Given the description of an element on the screen output the (x, y) to click on. 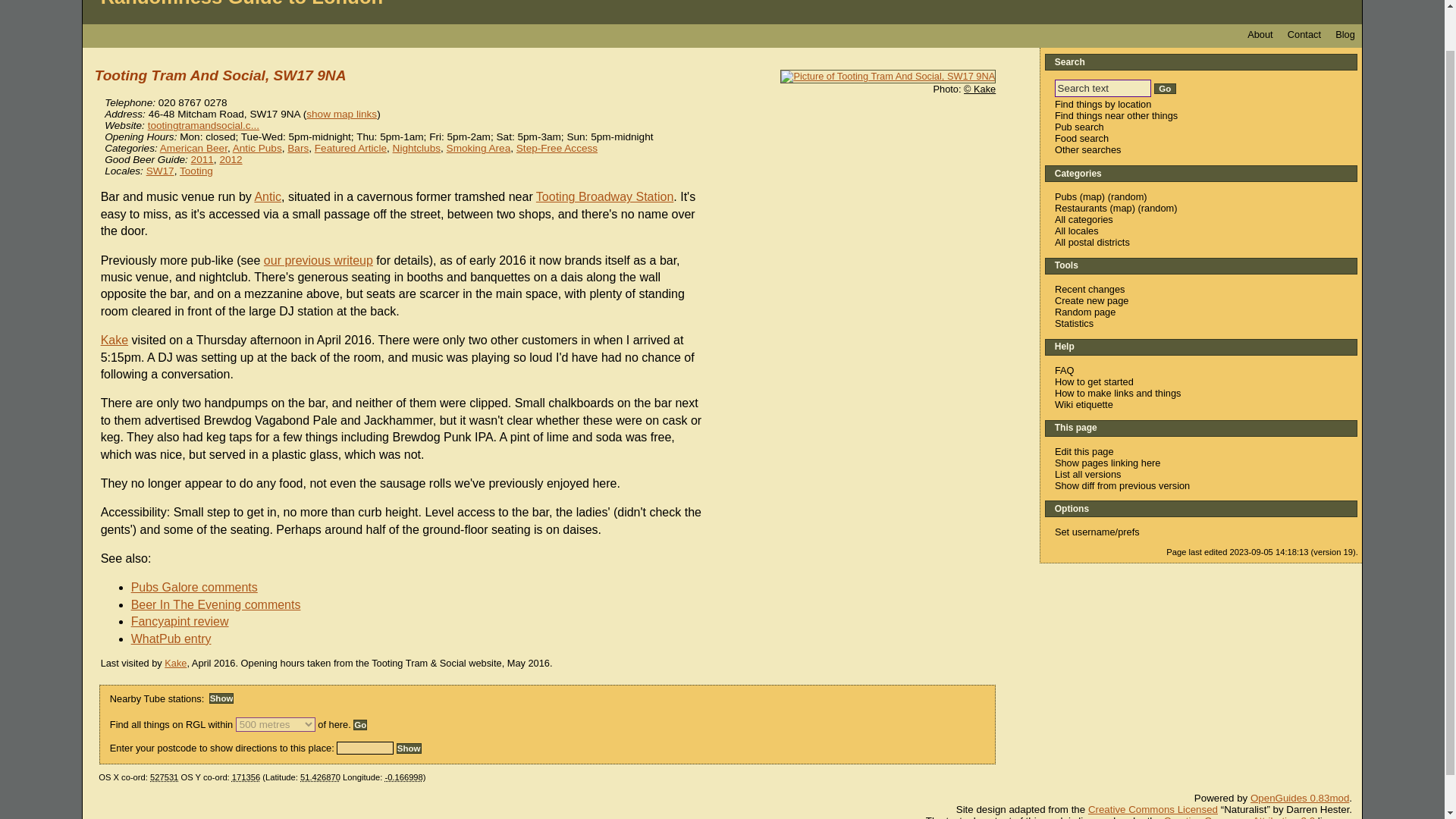
Go (359, 724)
Featured Article (350, 147)
527531 (163, 777)
Go (1165, 88)
Step-Free Access (556, 147)
View a list of all pubs (1065, 196)
View a random restaurant (1157, 207)
Antic (267, 196)
Food search (1081, 138)
WhatPub entry (176, 638)
